Given the description of an element on the screen output the (x, y) to click on. 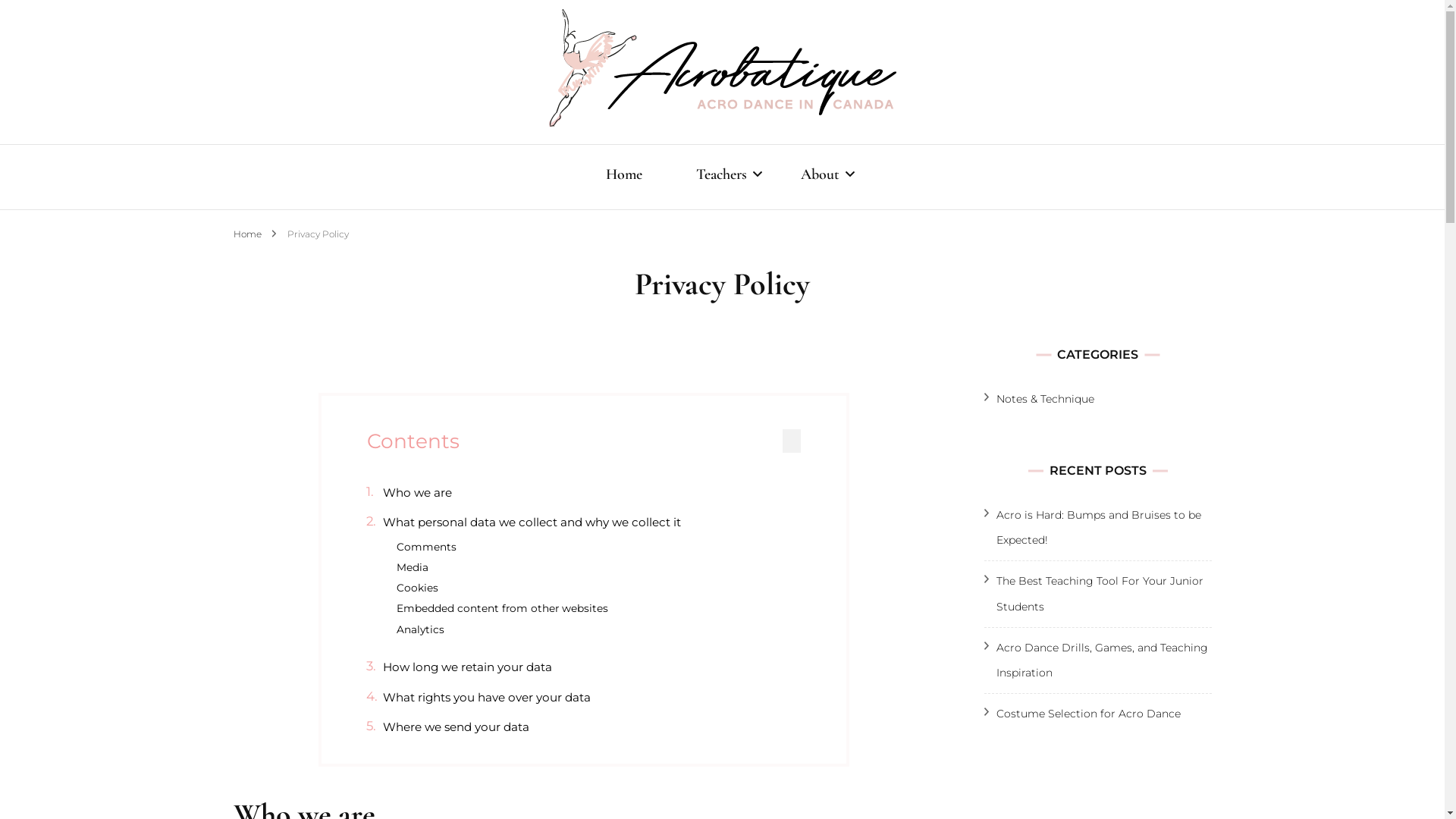
Teachers Element type: text (721, 176)
What personal data we collect and why we collect it Element type: text (531, 522)
The Best Teaching Tool For Your Junior Students Element type: text (1099, 593)
Acro is Hard: Bumps and Bruises to be Expected! Element type: text (1098, 527)
Analytics Element type: text (420, 629)
Notes & Technique Element type: text (1045, 398)
Privacy Policy Element type: text (317, 232)
About Element type: text (819, 176)
Acro Dance Drills, Games, and Teaching Inspiration Element type: text (1102, 659)
Who we are Element type: text (416, 492)
Cookies Element type: text (417, 588)
How long we retain your data Element type: text (467, 667)
Media Element type: text (412, 567)
Home Element type: text (247, 232)
Where we send your data Element type: text (455, 727)
Comments Element type: text (426, 547)
Embedded content from other websites Element type: text (502, 608)
Home Element type: text (623, 176)
What rights you have over your data Element type: text (486, 697)
Costume Selection for Acro Dance Element type: text (1088, 713)
